Given the description of an element on the screen output the (x, y) to click on. 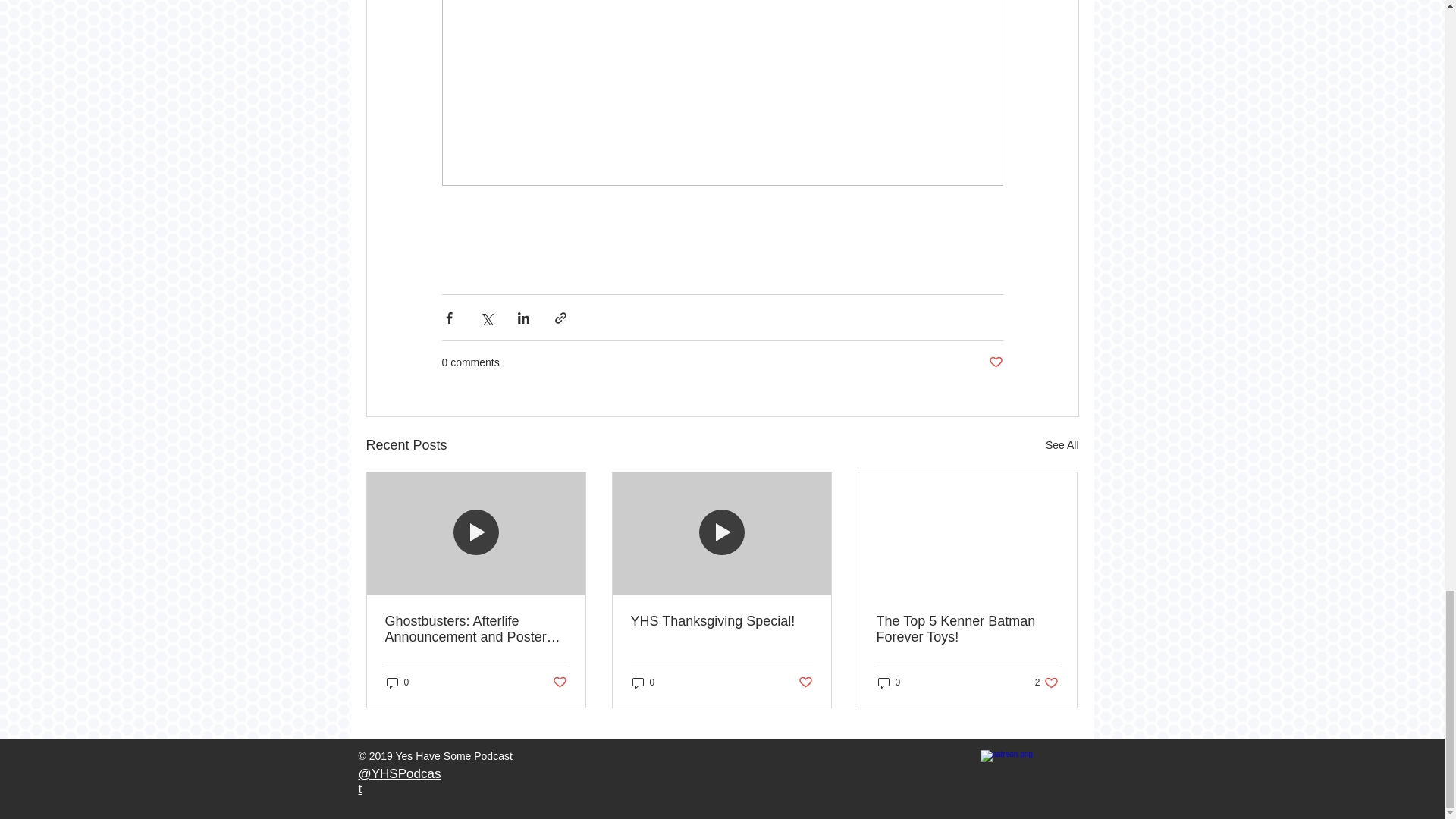
YHS Thanksgiving Special! (721, 621)
The Top 5 Kenner Batman Forever Toys! (967, 629)
Post not marked as liked (995, 362)
See All (1061, 445)
Post not marked as liked (558, 682)
Post not marked as liked (804, 682)
0 (889, 681)
0 (1046, 681)
0 (643, 681)
Ghostbusters: Afterlife Announcement and Poster Reactions! (397, 681)
